Given the description of an element on the screen output the (x, y) to click on. 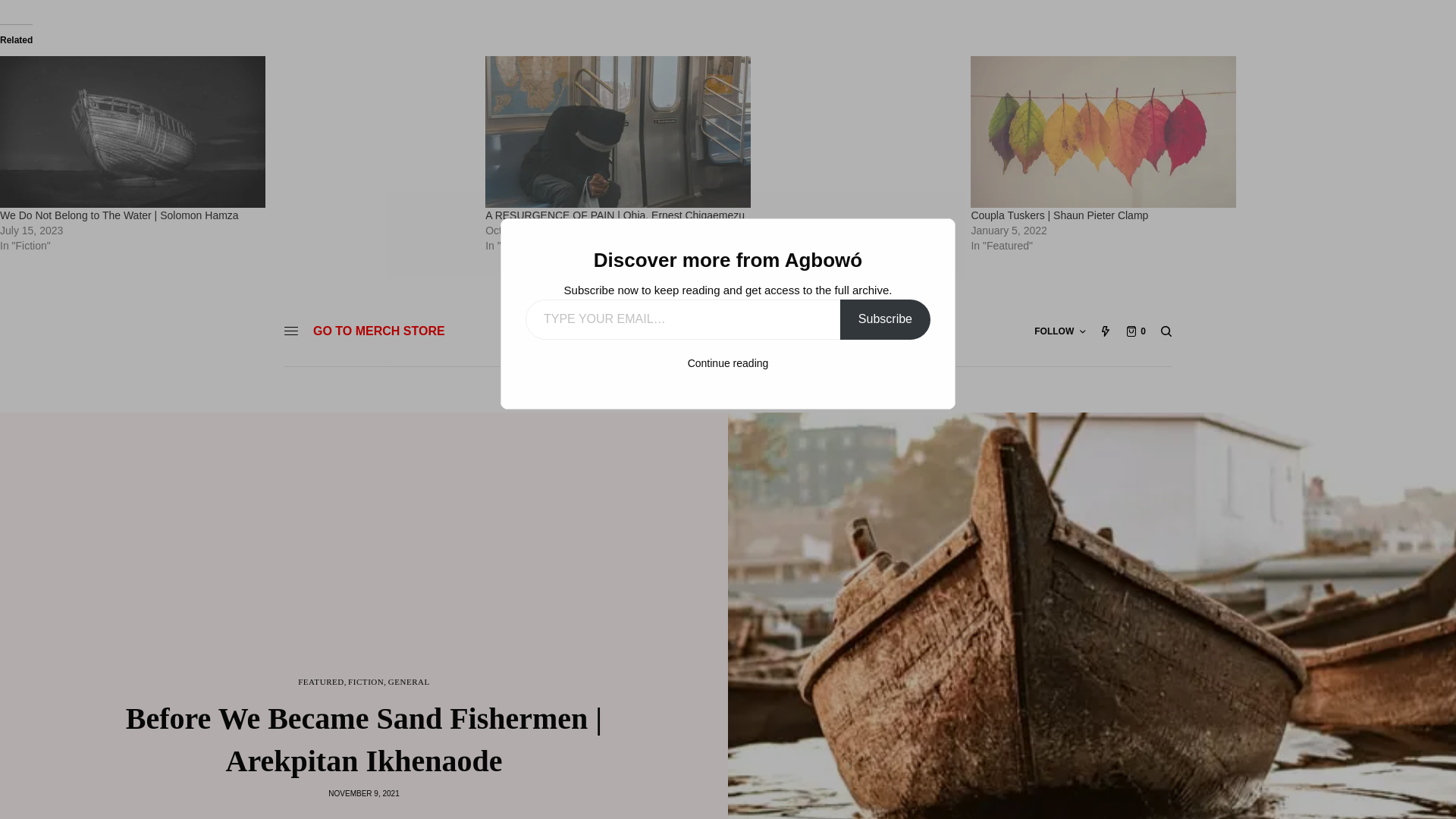
FOLLOW (1058, 330)
ABOUT (557, 389)
GO TO MERCH STORE (379, 330)
0 (1135, 330)
